Given the description of an element on the screen output the (x, y) to click on. 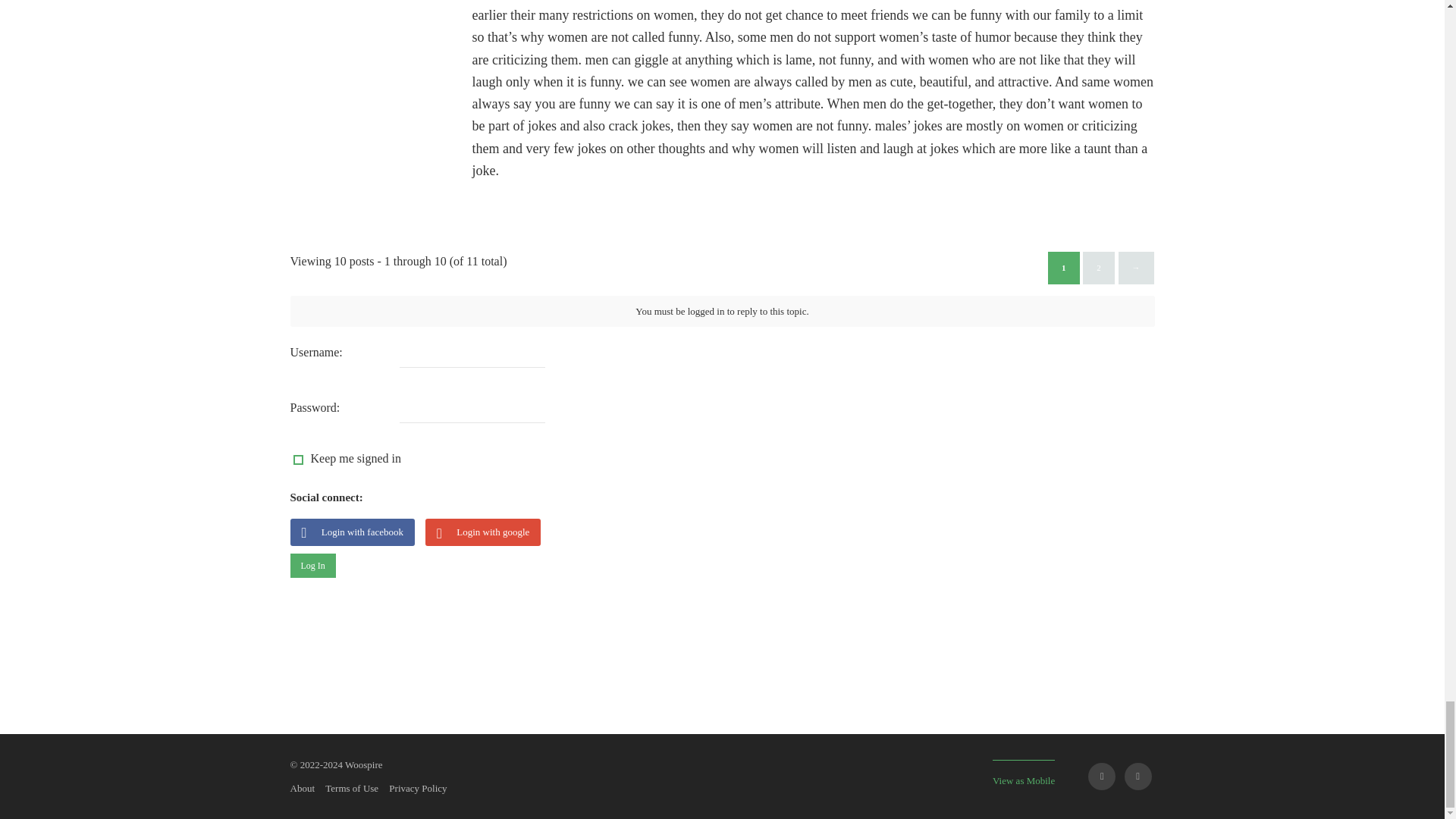
View as Mobile (1023, 773)
